Given the description of an element on the screen output the (x, y) to click on. 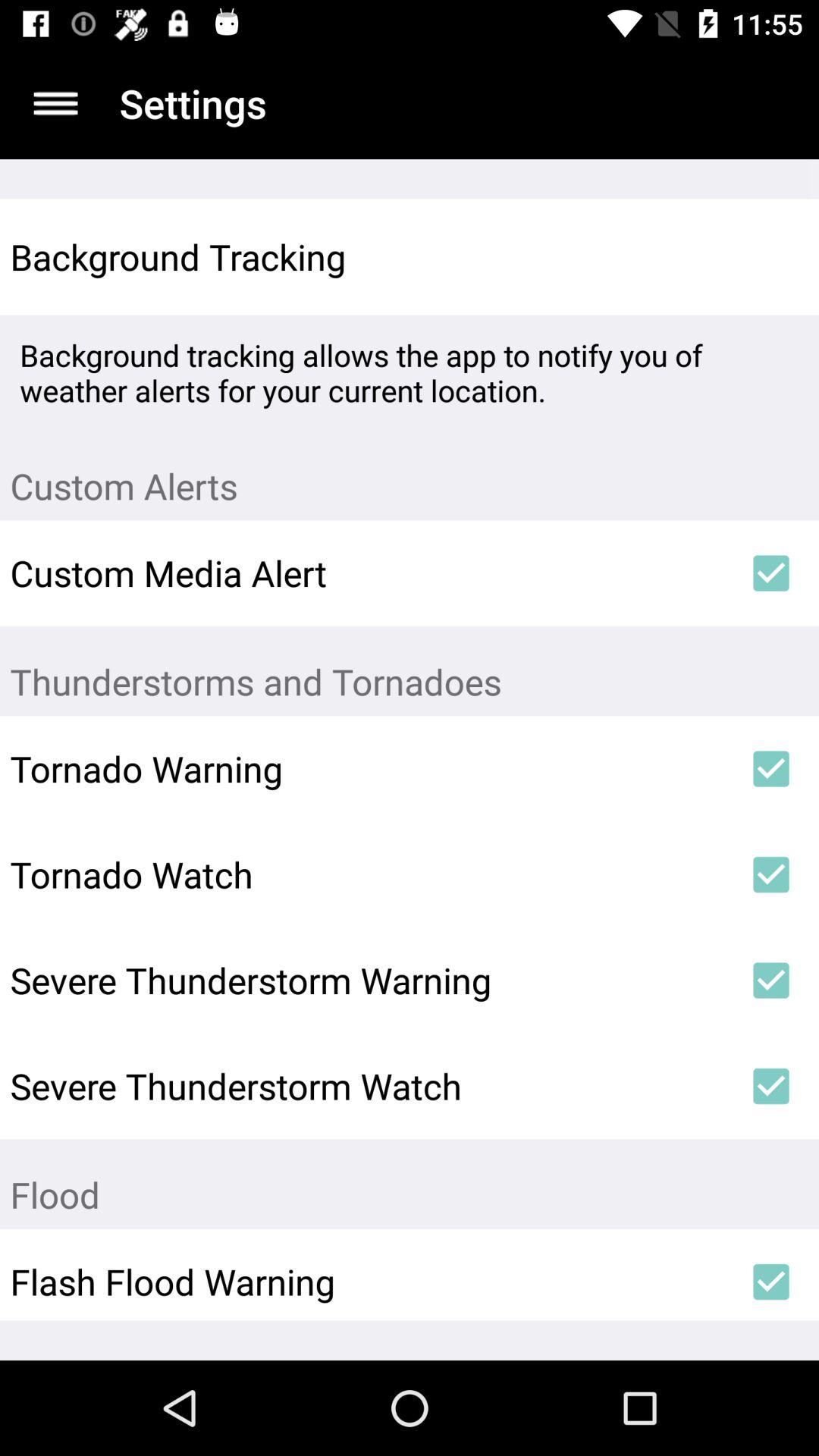
launch item to the right of the background tracking item (771, 256)
